Given the description of an element on the screen output the (x, y) to click on. 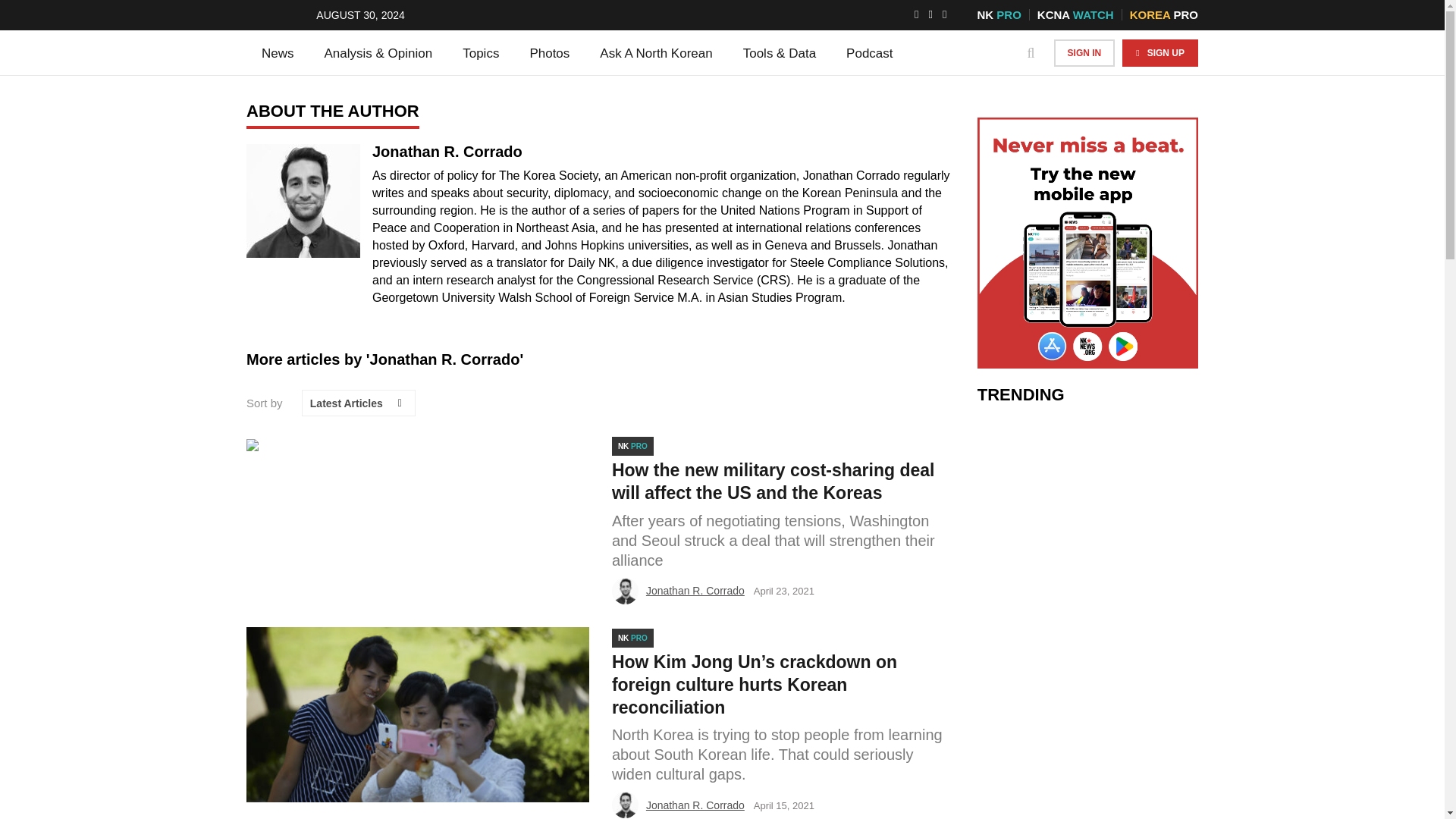
KCNA WATCH (1074, 14)
NK PRO (998, 14)
KOREA PRO (1163, 14)
